Given the description of an element on the screen output the (x, y) to click on. 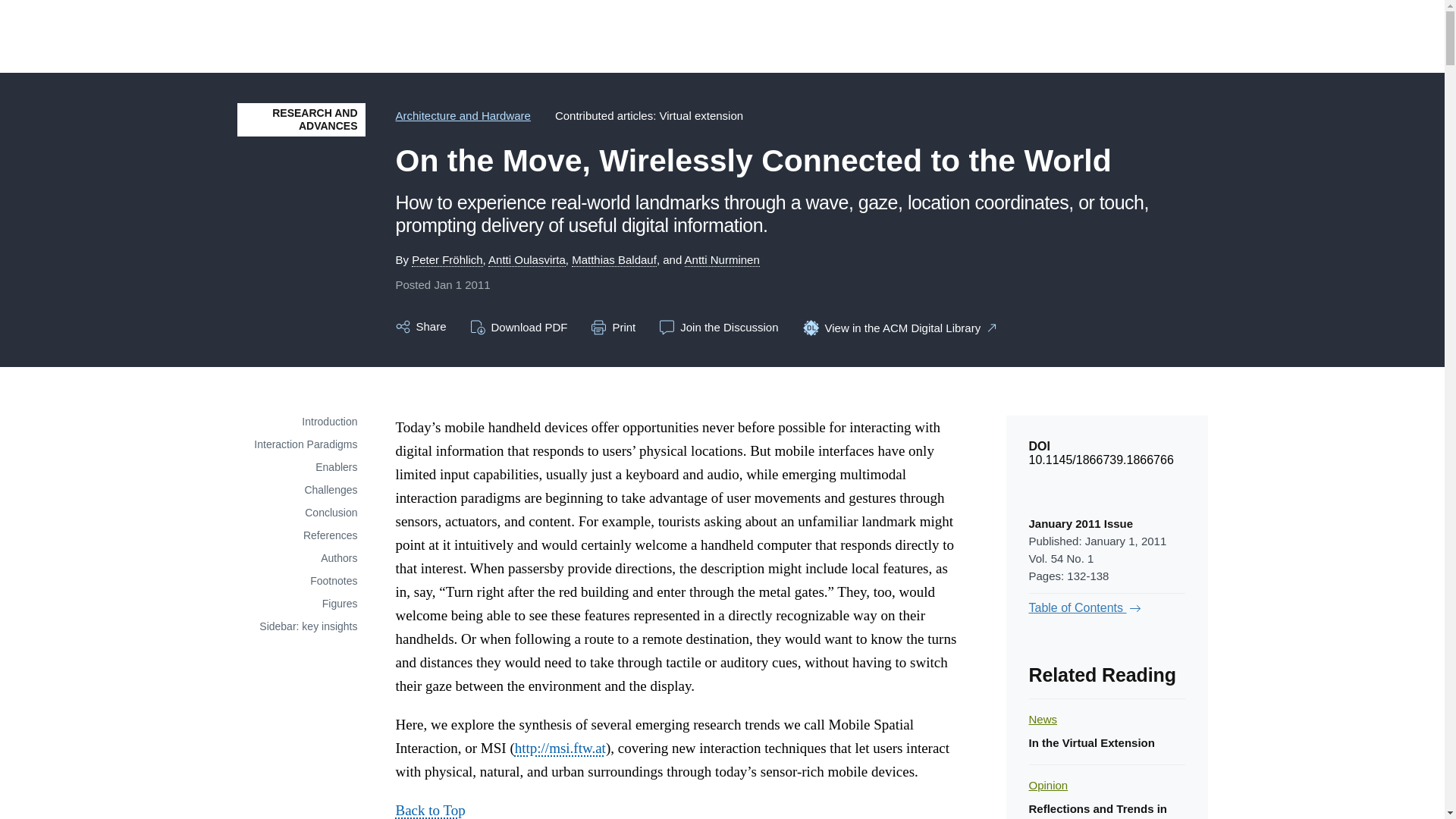
Posts by Antti Nurminen (722, 259)
Posts by Antti Oulasvirta (526, 259)
Posts by Matthias Baldauf (614, 259)
